Given the description of an element on the screen output the (x, y) to click on. 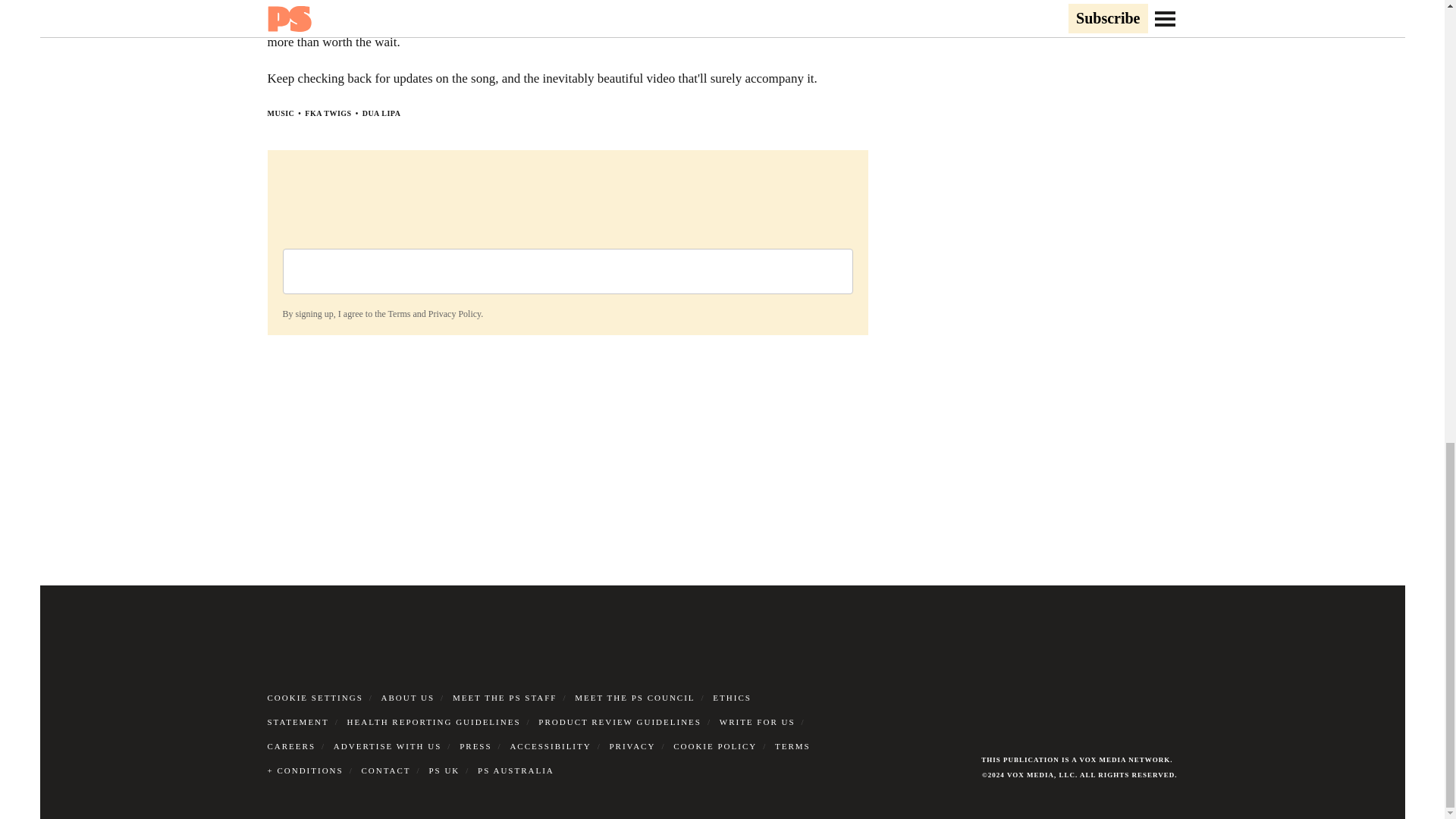
MEET THE PS COUNCIL (634, 697)
DUA LIPA (381, 112)
ABOUT US (408, 697)
FKA TWIGS (327, 112)
MEET THE PS STAFF (504, 697)
PRIVACY (633, 746)
PRESS (476, 746)
ADVERTISE WITH US (387, 746)
Privacy Policy. (455, 313)
PRODUCT REVIEW GUIDELINES (619, 721)
ACCESSIBILITY (550, 746)
Terms (399, 313)
WRITE FOR US (756, 721)
COOKIE POLICY (714, 746)
ETHICS STATEMENT (508, 709)
